Given the description of an element on the screen output the (x, y) to click on. 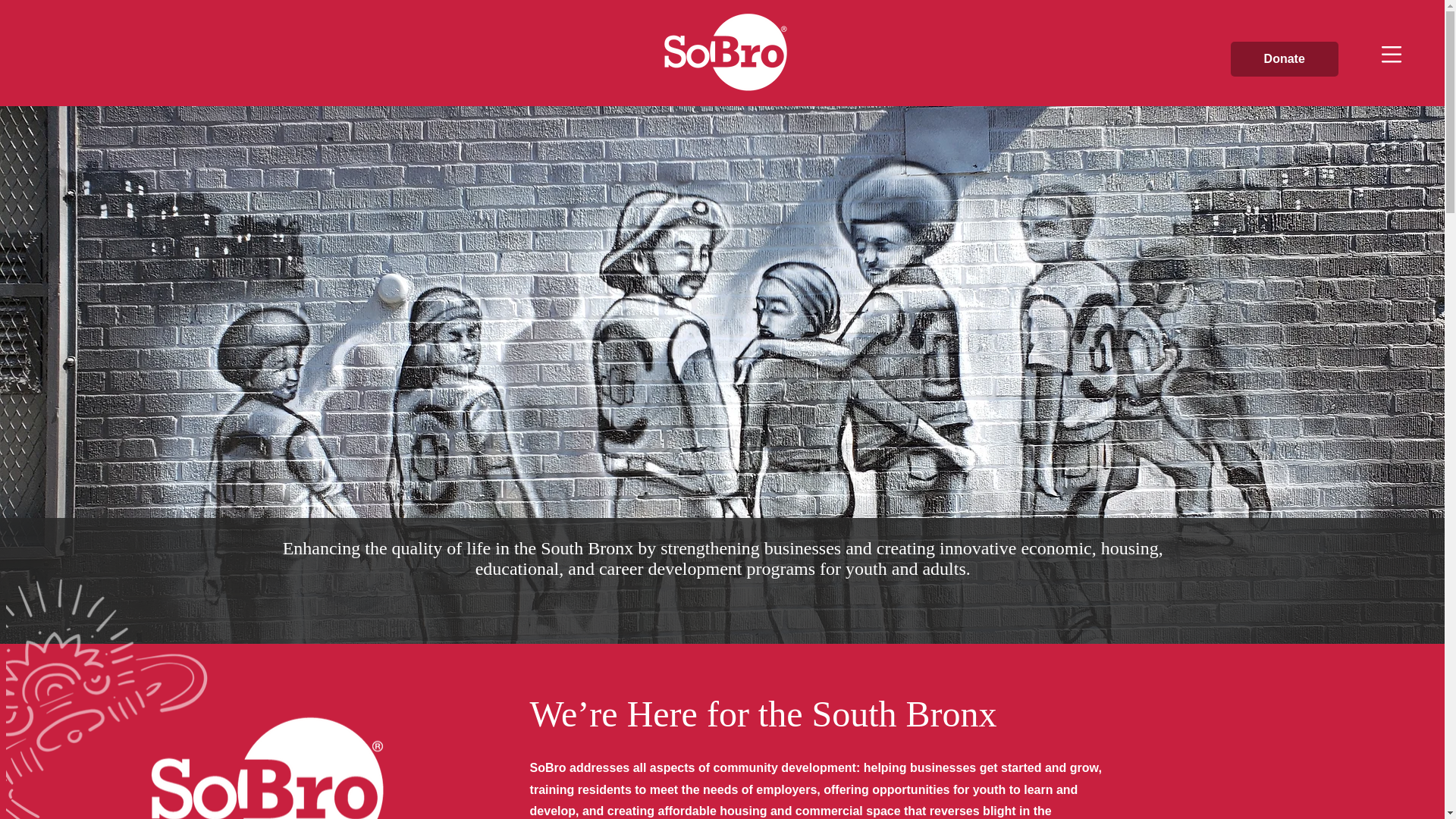
Donate (1284, 58)
